Given the description of an element on the screen output the (x, y) to click on. 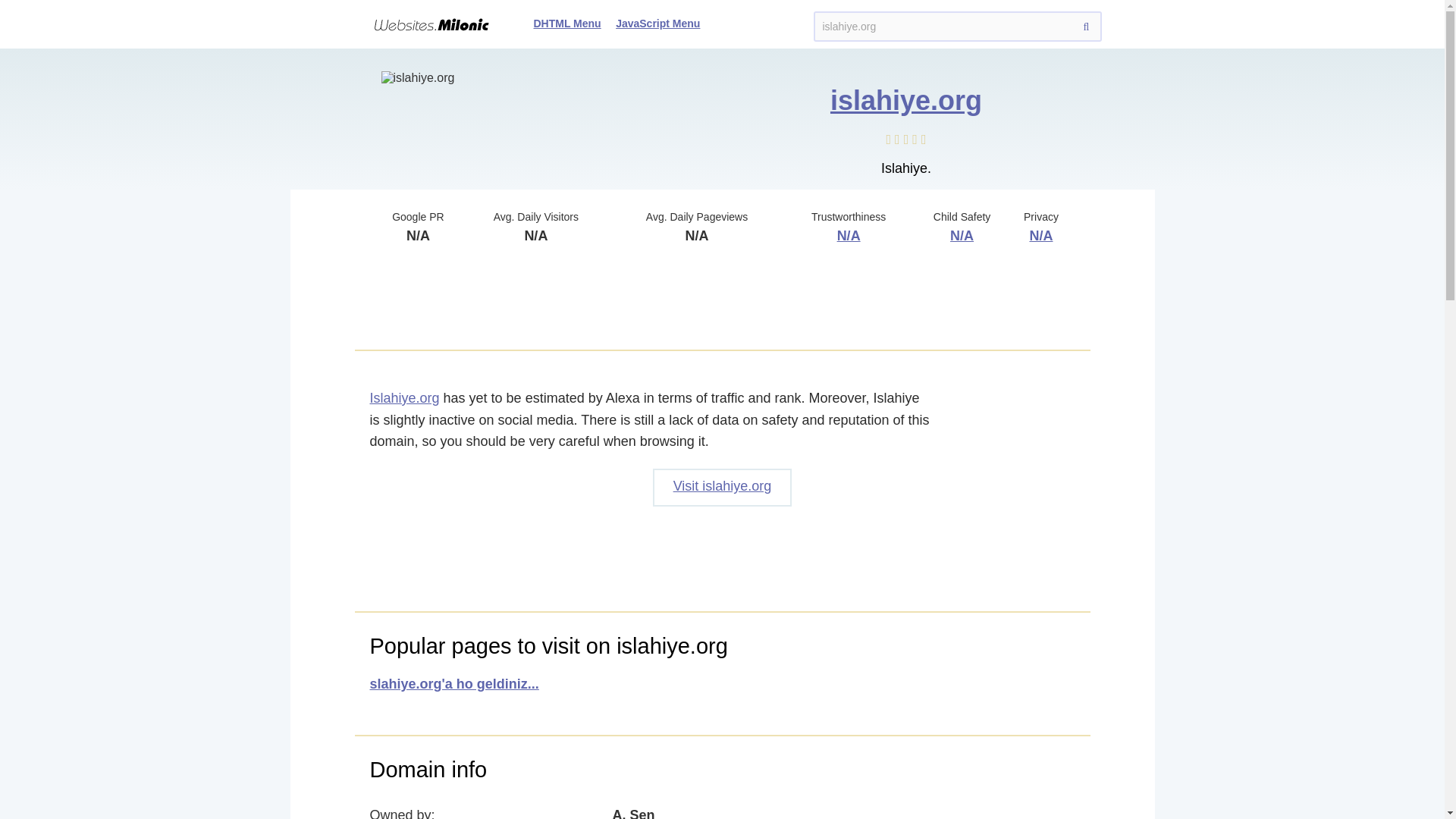
islahiye.org (956, 26)
slahiye.org'a ho geldiniz... (453, 683)
Visit islahiye.org (722, 487)
JavaScript Menu (657, 23)
islahiye.org (905, 100)
Islahiye.org (404, 397)
DHTML Menu (567, 23)
